Given the description of an element on the screen output the (x, y) to click on. 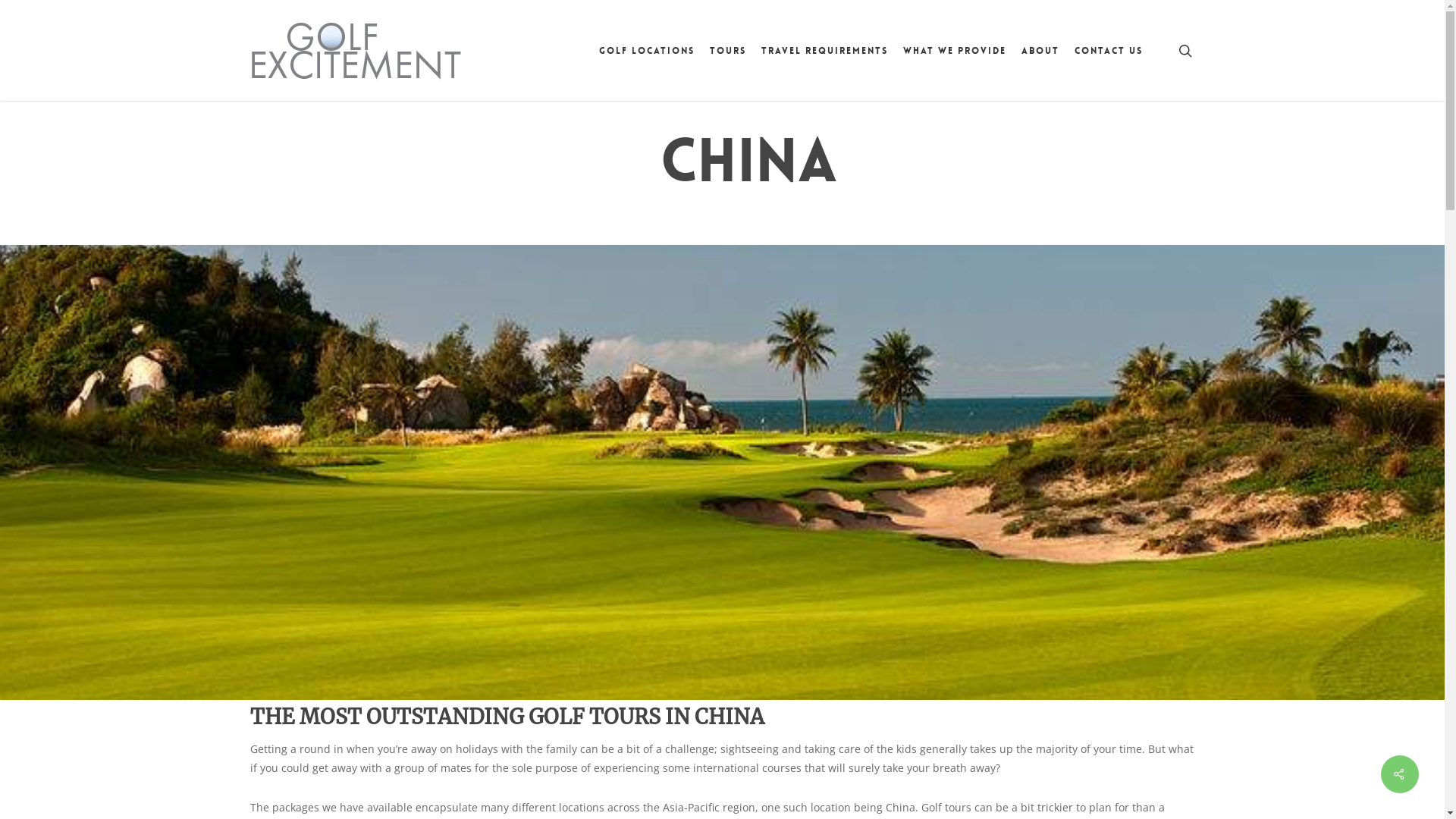
WHAT WE PROVIDE Element type: text (954, 49)
CONTACT US Element type: text (1108, 49)
TRAVEL REQUIREMENTS Element type: text (824, 49)
TOURS Element type: text (727, 49)
search Element type: text (1185, 49)
ABOUT Element type: text (1040, 49)
GOLF LOCATIONS Element type: text (646, 49)
